Given the description of an element on the screen output the (x, y) to click on. 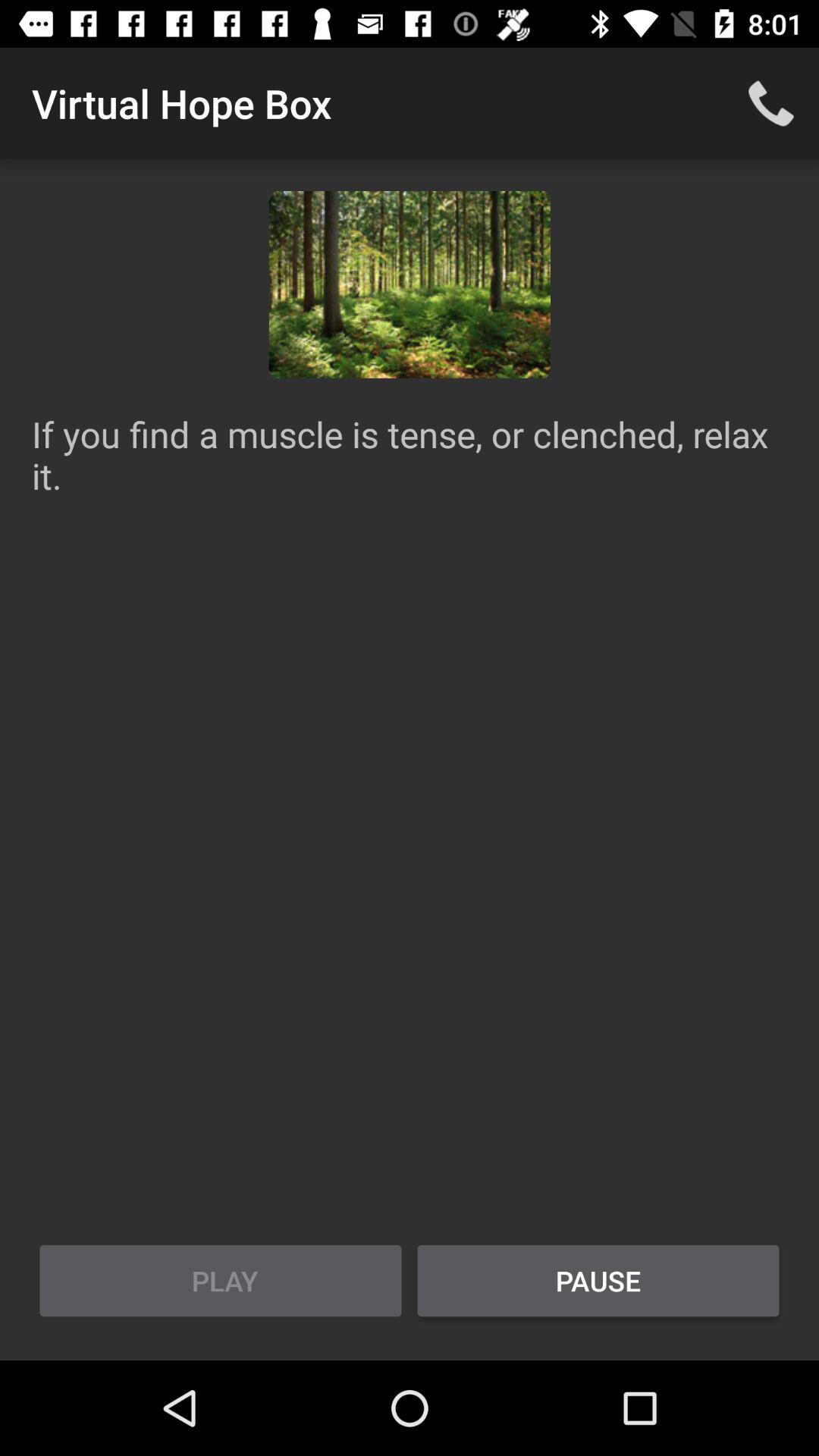
choose the item below the if you find item (220, 1280)
